Given the description of an element on the screen output the (x, y) to click on. 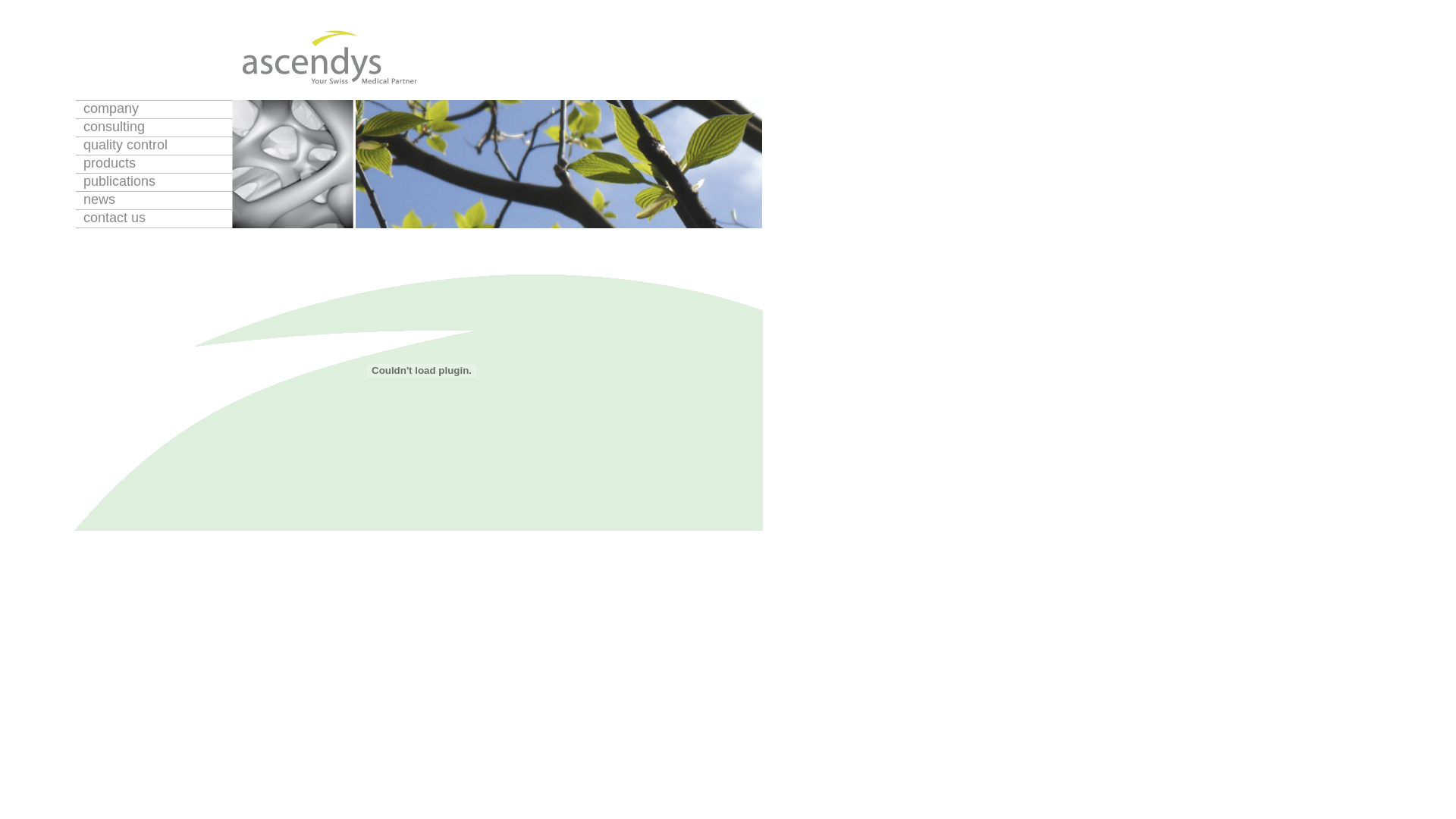
company Element type: text (153, 109)
products Element type: text (153, 163)
consulting Element type: text (153, 127)
quality control Element type: text (153, 145)
publications Element type: text (153, 182)
news Element type: text (153, 200)
contact us Element type: text (153, 218)
